Given the description of an element on the screen output the (x, y) to click on. 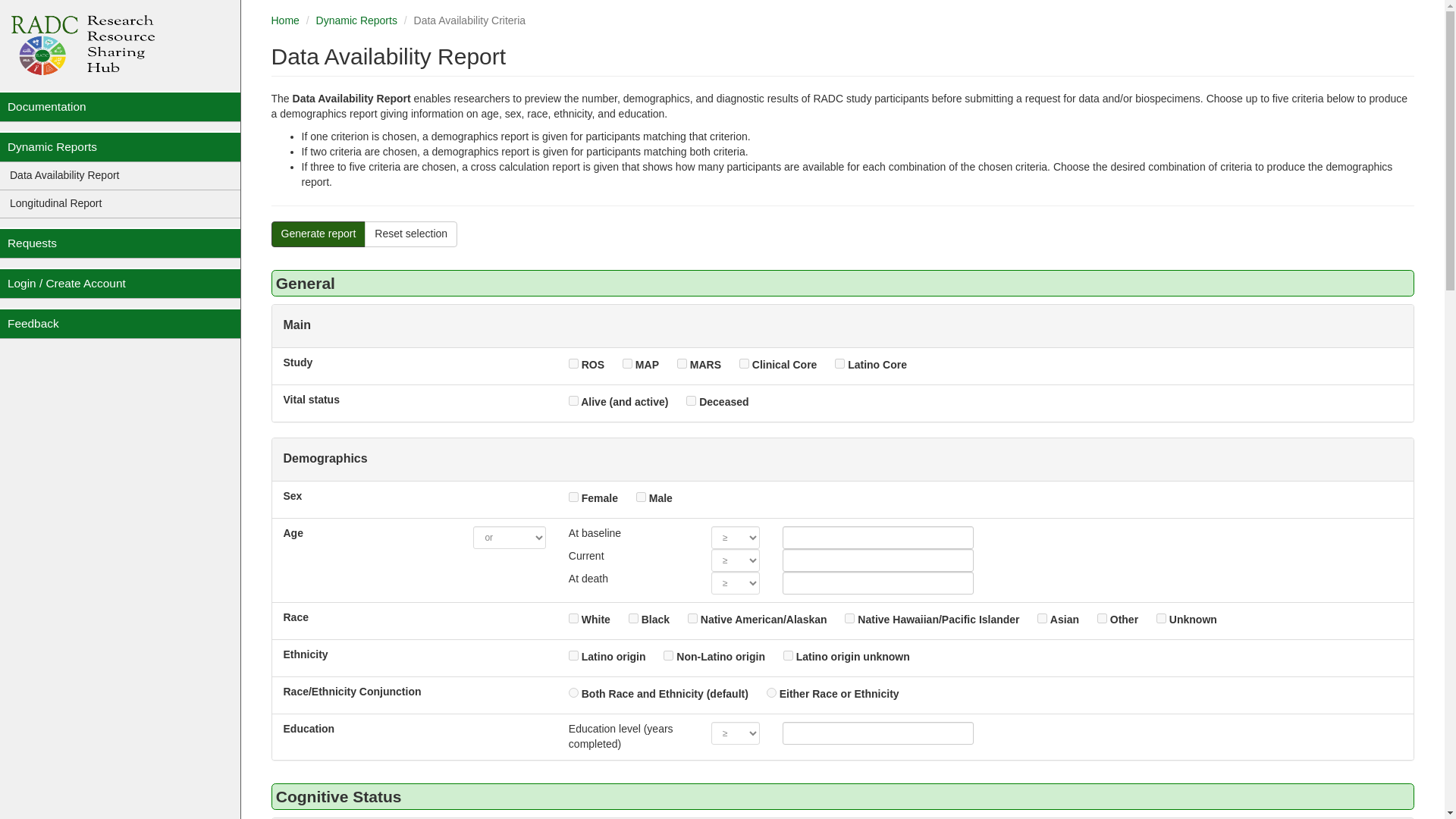
Requests (120, 242)
1 (682, 363)
1 (1101, 618)
1 (690, 400)
1 (573, 400)
Dynamic Reports (356, 20)
1 (573, 363)
1 (573, 497)
Documentation (120, 106)
Home (284, 20)
1 (573, 618)
1 (839, 363)
1 (641, 497)
1 (849, 618)
1 (1041, 618)
